Given the description of an element on the screen output the (x, y) to click on. 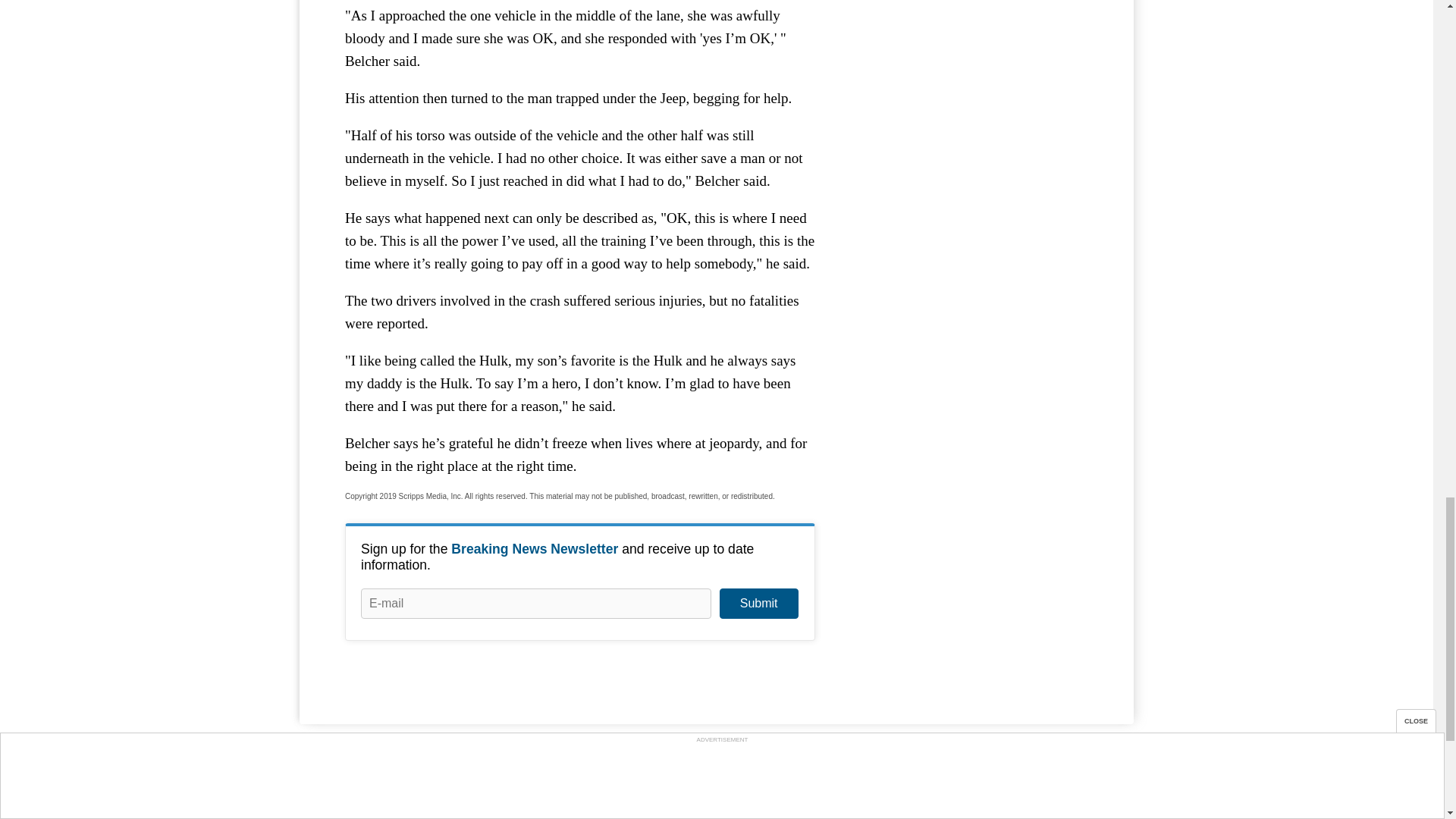
Submit (758, 603)
